Given the description of an element on the screen output the (x, y) to click on. 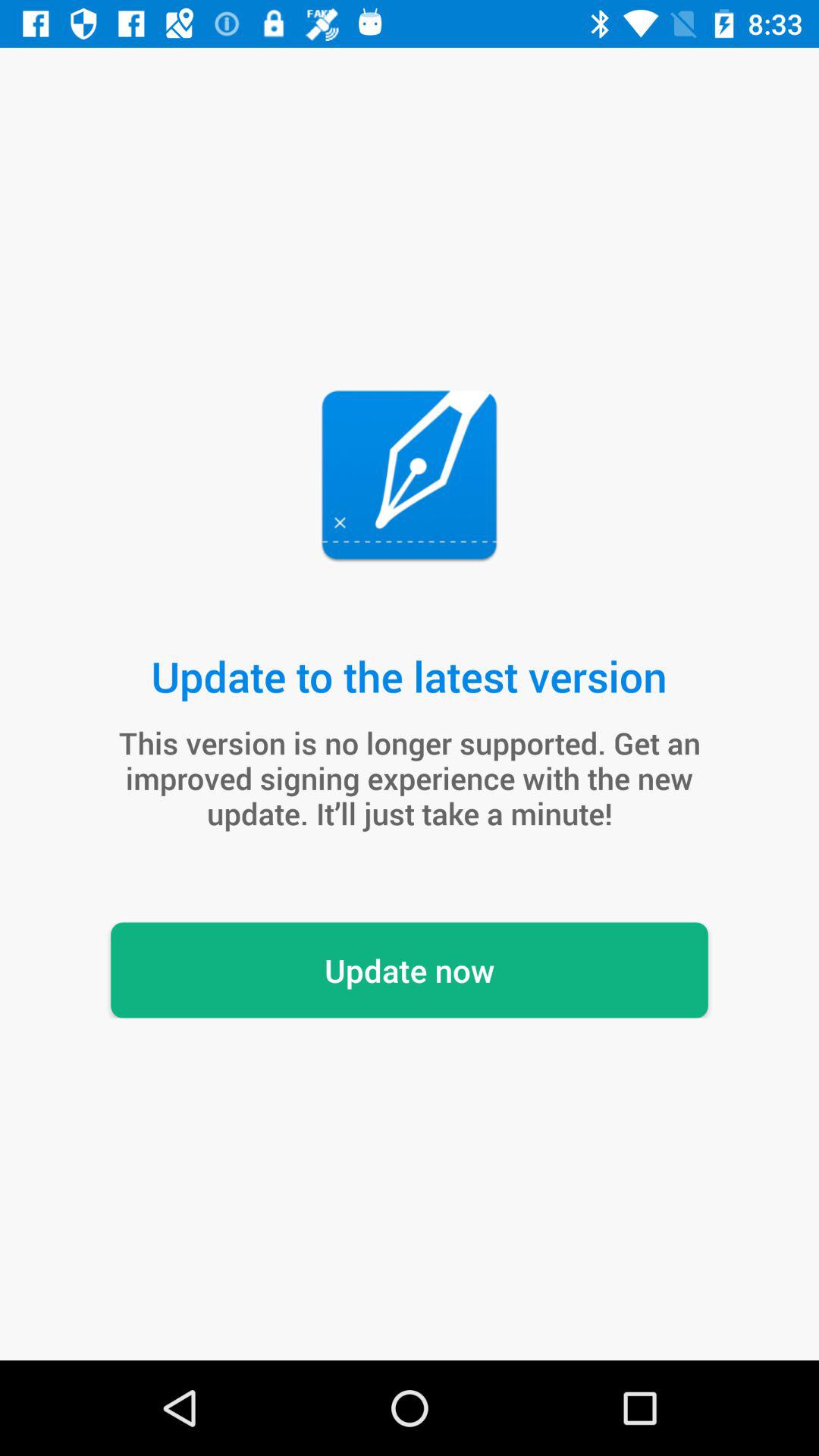
flip to update now icon (409, 970)
